Given the description of an element on the screen output the (x, y) to click on. 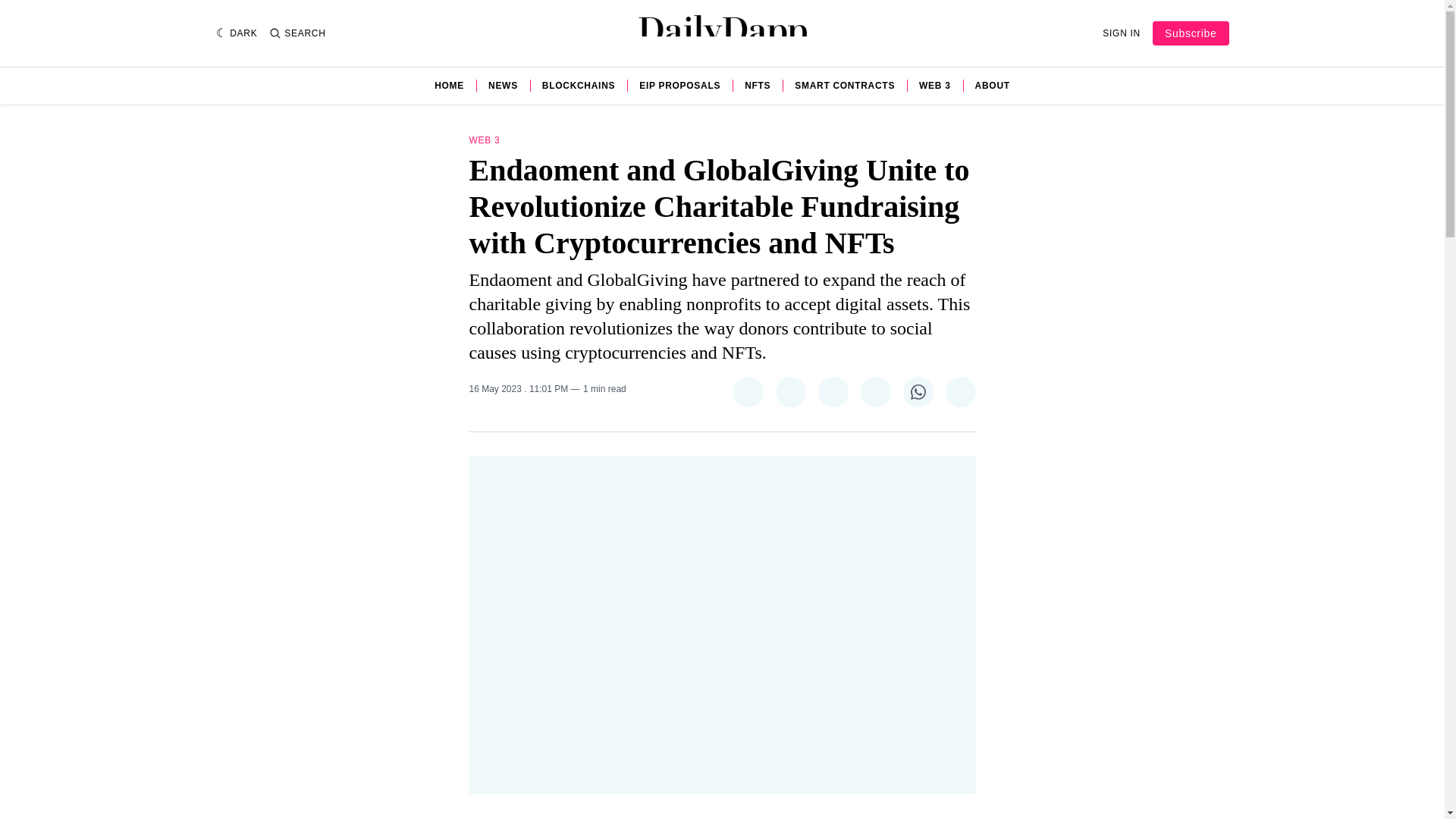
HOME (448, 85)
Share on WhatsApp (917, 391)
ABOUT (992, 85)
SEARCH (296, 33)
Share on LinkedIn (874, 391)
EIP PROPOSALS (679, 85)
Share via Email (959, 391)
Share on Twitter (747, 391)
Share on Facebook (789, 391)
SMART CONTRACTS (844, 85)
WEB 3 (934, 85)
Subscribe (1190, 33)
SIGN IN (1121, 33)
Share on Pinterest (831, 391)
WEB 3 (483, 140)
